Given the description of an element on the screen output the (x, y) to click on. 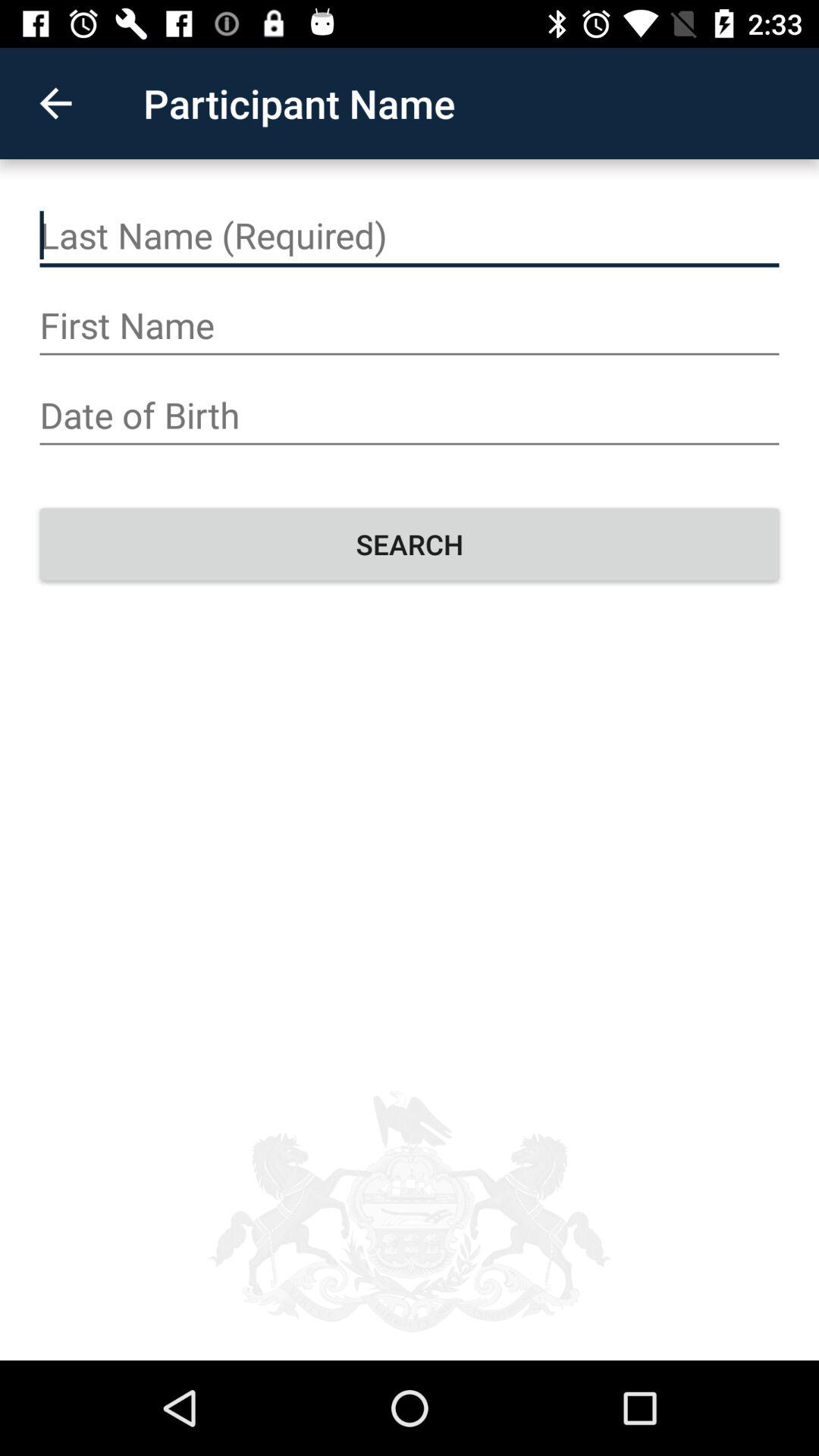
fill out last name (409, 235)
